Given the description of an element on the screen output the (x, y) to click on. 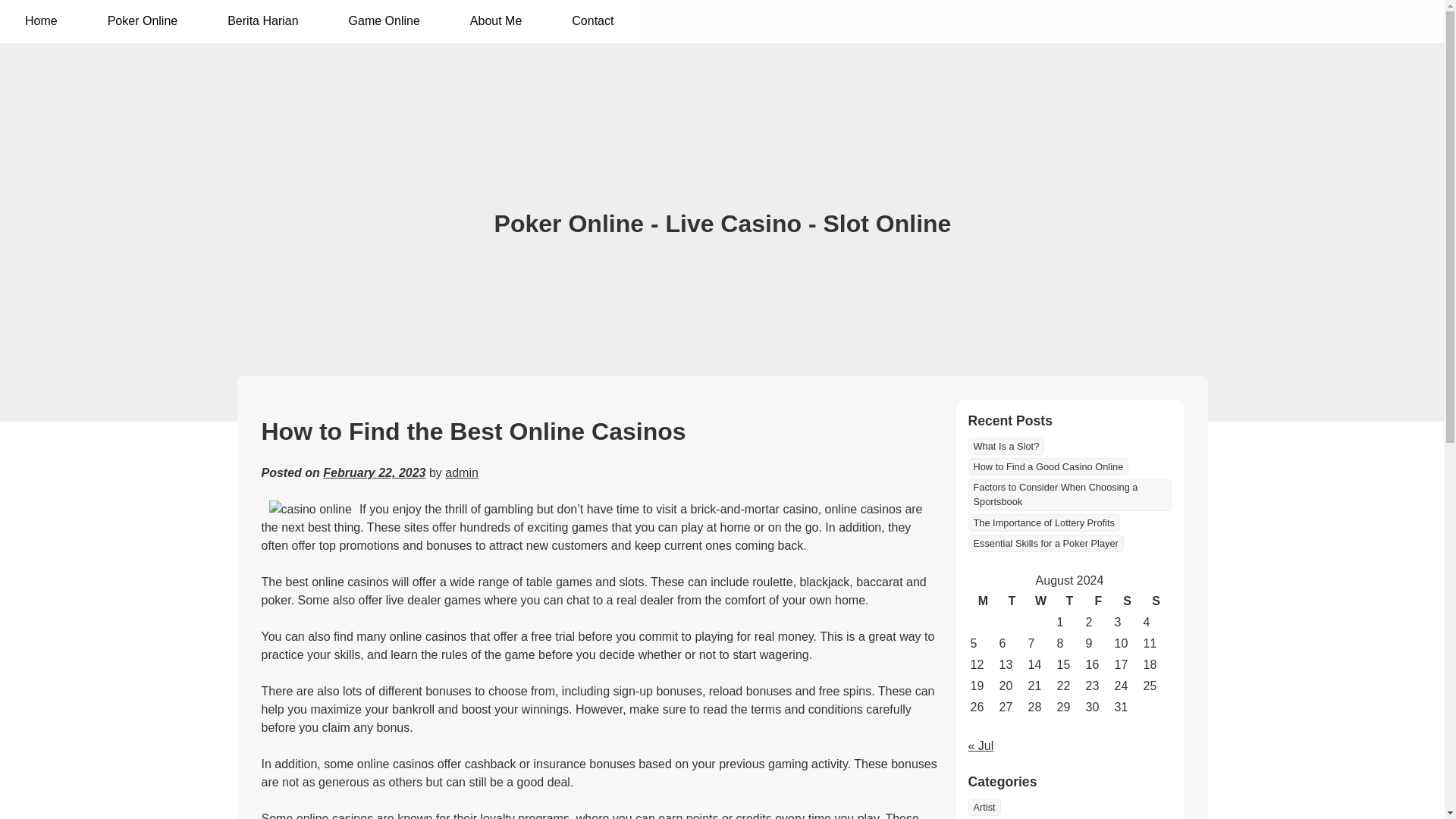
Home (41, 21)
Contact (592, 21)
What is a Lottery? (1012, 466)
Monday (982, 587)
How to Find a Good Casino Online (1048, 528)
Wednesday (1040, 587)
Saturday (1126, 587)
What Is a Slot? (1005, 507)
Friday (1098, 587)
Berita Harian (1001, 811)
